Given the description of an element on the screen output the (x, y) to click on. 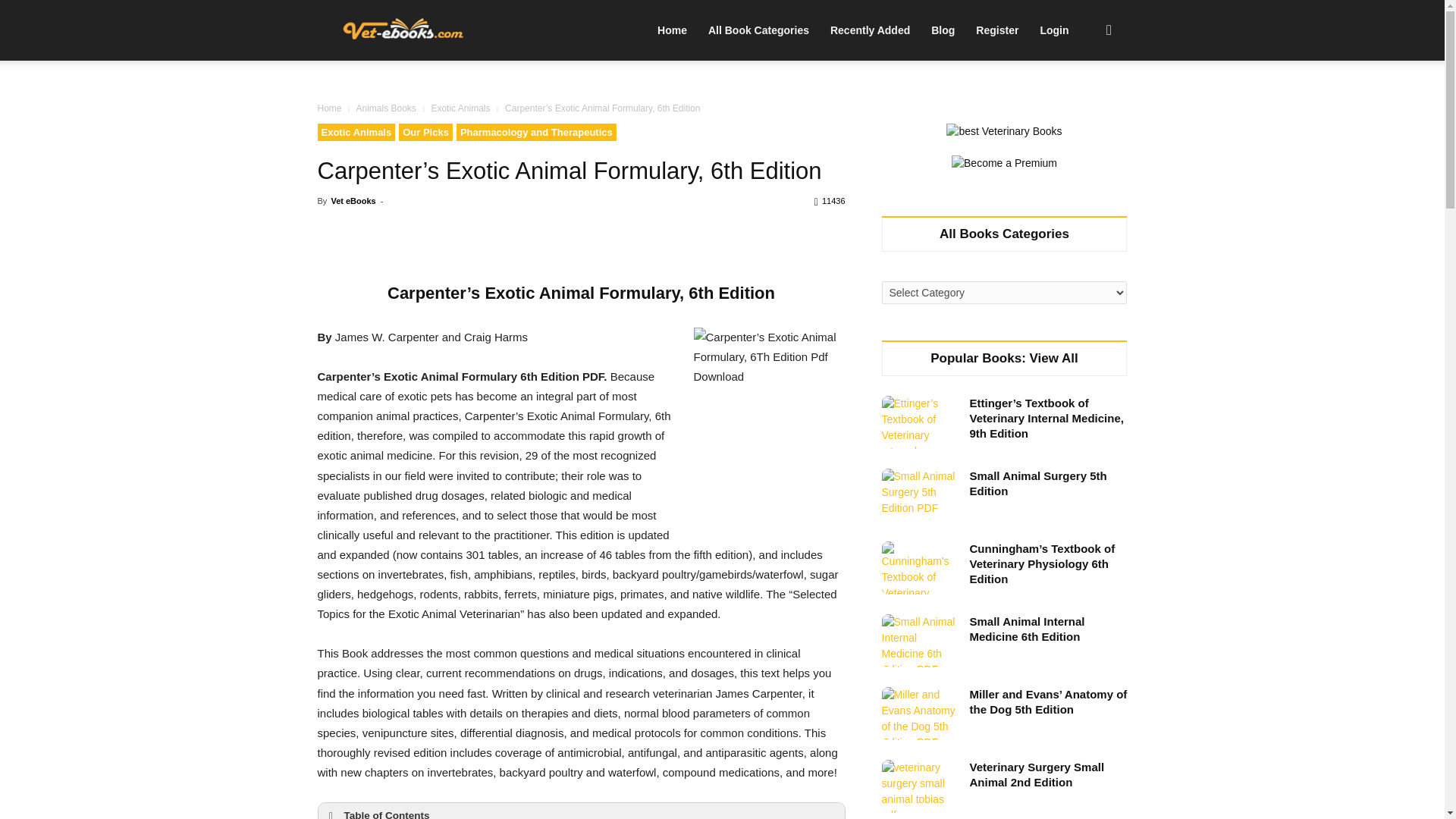
View all posts in Animals Books (384, 108)
Veterinary Books (401, 30)
View all posts in Exotic Animals (459, 108)
